Given the description of an element on the screen output the (x, y) to click on. 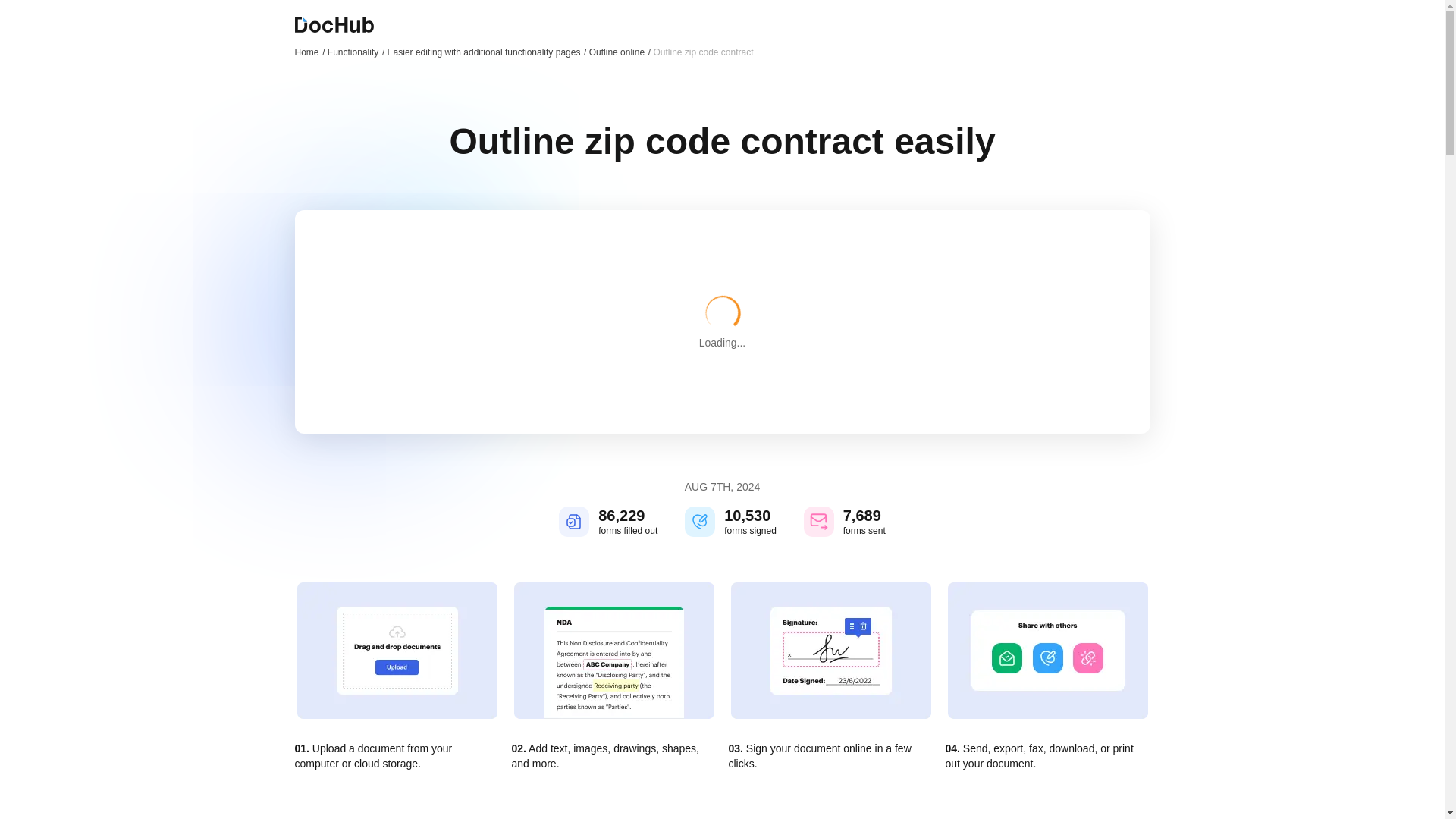
Outline online (619, 51)
Home (309, 51)
Easier editing with additional functionality pages (486, 51)
Functionality (355, 51)
